Given the description of an element on the screen output the (x, y) to click on. 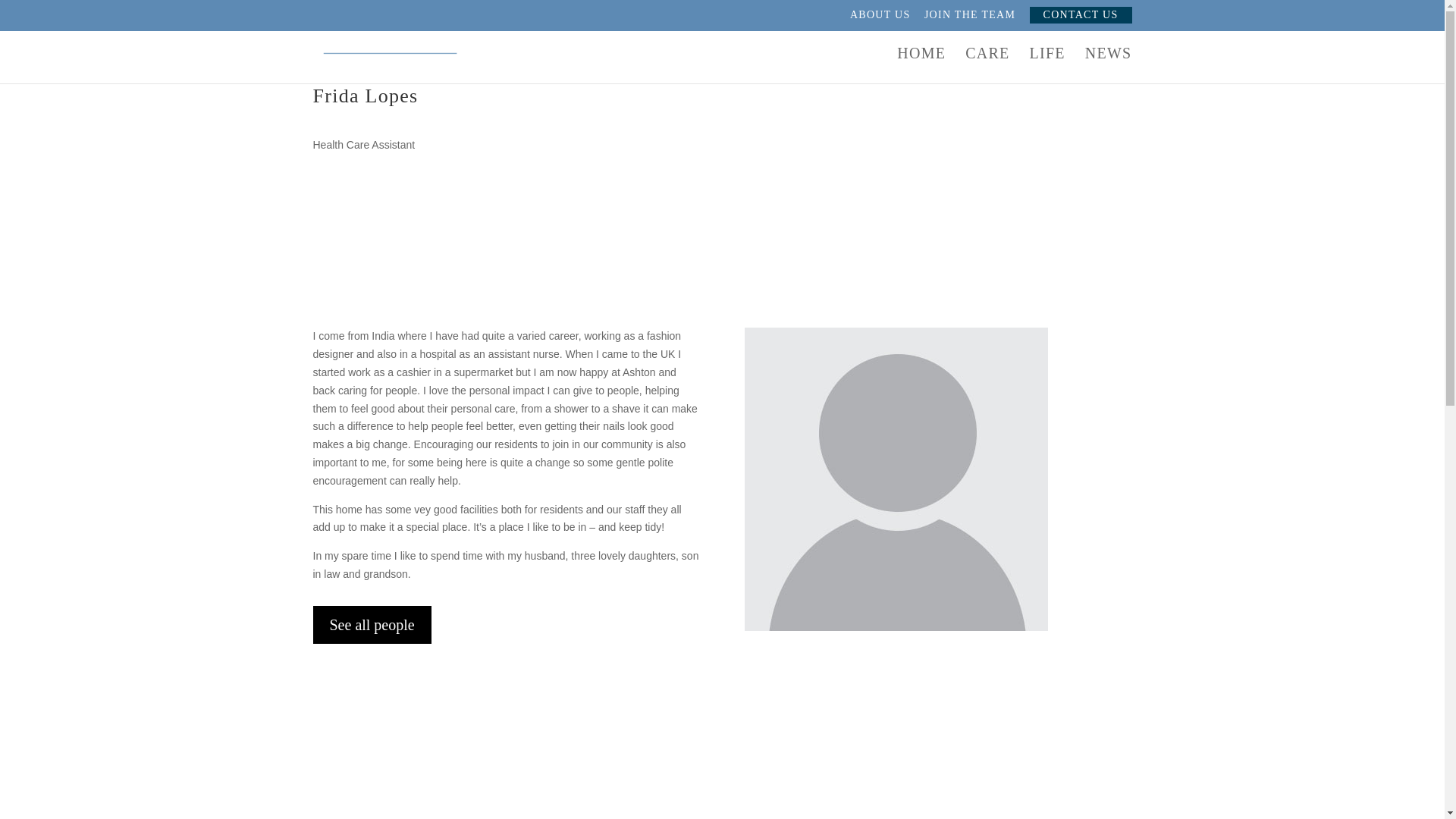
person-placeholder (896, 478)
JOIN THE TEAM (969, 18)
ABOUT US (880, 18)
LIFE (1046, 65)
HOME (920, 65)
See all people (371, 624)
NEWS (1108, 65)
CARE (987, 65)
CONTACT US (1080, 14)
